Given the description of an element on the screen output the (x, y) to click on. 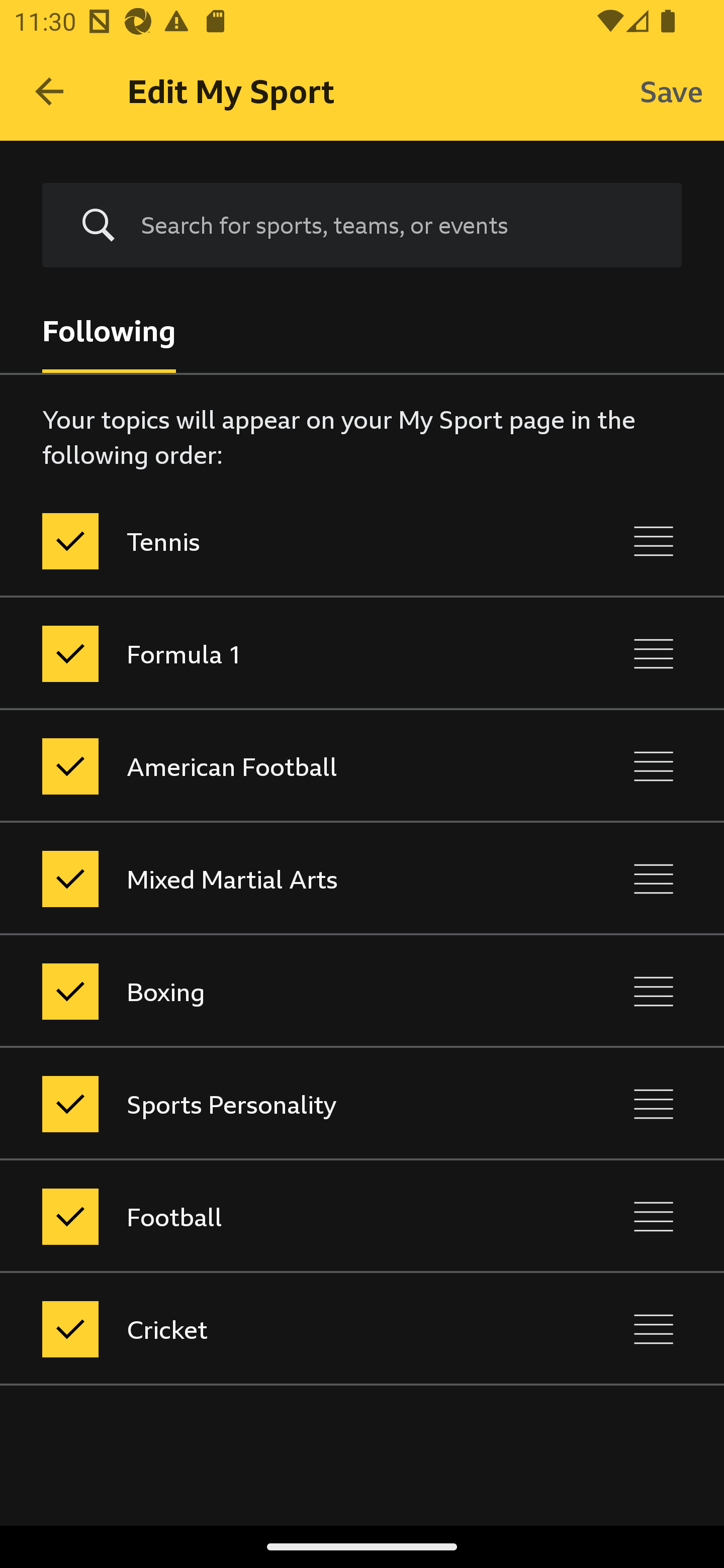
Navigate up (49, 91)
Save (671, 90)
Search for sports, teams, or events (361, 225)
Search for sports, teams, or events (396, 224)
Tennis (277, 540)
Reorder Tennis (653, 540)
Formula 1 (277, 653)
Reorder Formula 1 (653, 653)
American Football (277, 766)
Reorder American Football (653, 766)
Mixed Martial Arts (277, 878)
Reorder Mixed Martial Arts (653, 878)
Boxing (277, 990)
Reorder Boxing (653, 990)
Sports Personality (277, 1103)
Reorder Sports Personality (653, 1103)
Football (277, 1216)
Reorder Football (653, 1216)
Cricket (277, 1329)
Reorder Cricket (653, 1329)
